Given the description of an element on the screen output the (x, y) to click on. 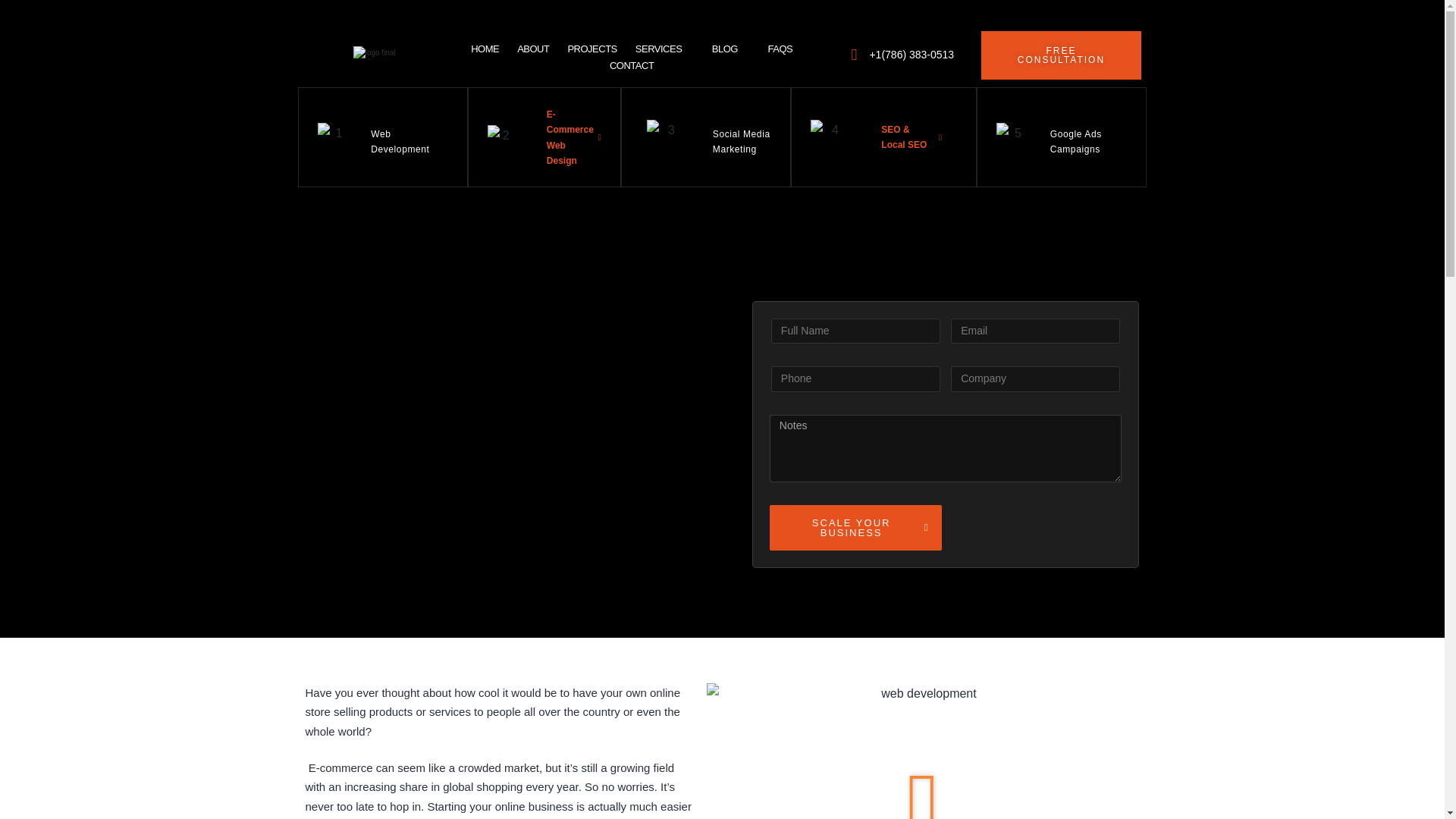
Social Media Marketing (741, 141)
Web development explainer 2 (332, 137)
ABOUT (532, 48)
PROJECTS (591, 48)
Web development explainer 4 (664, 136)
SERVICES (664, 48)
BLOG (730, 48)
Web Development (400, 141)
Web development explainer 1 (374, 55)
FREE CONSULTATION (1061, 55)
Web development explainer 3 (499, 137)
Web development explainer 6 (1011, 137)
E-Commerce Web Design (575, 137)
FAQS (780, 48)
Web development explainer 5 (828, 136)
